Given the description of an element on the screen output the (x, y) to click on. 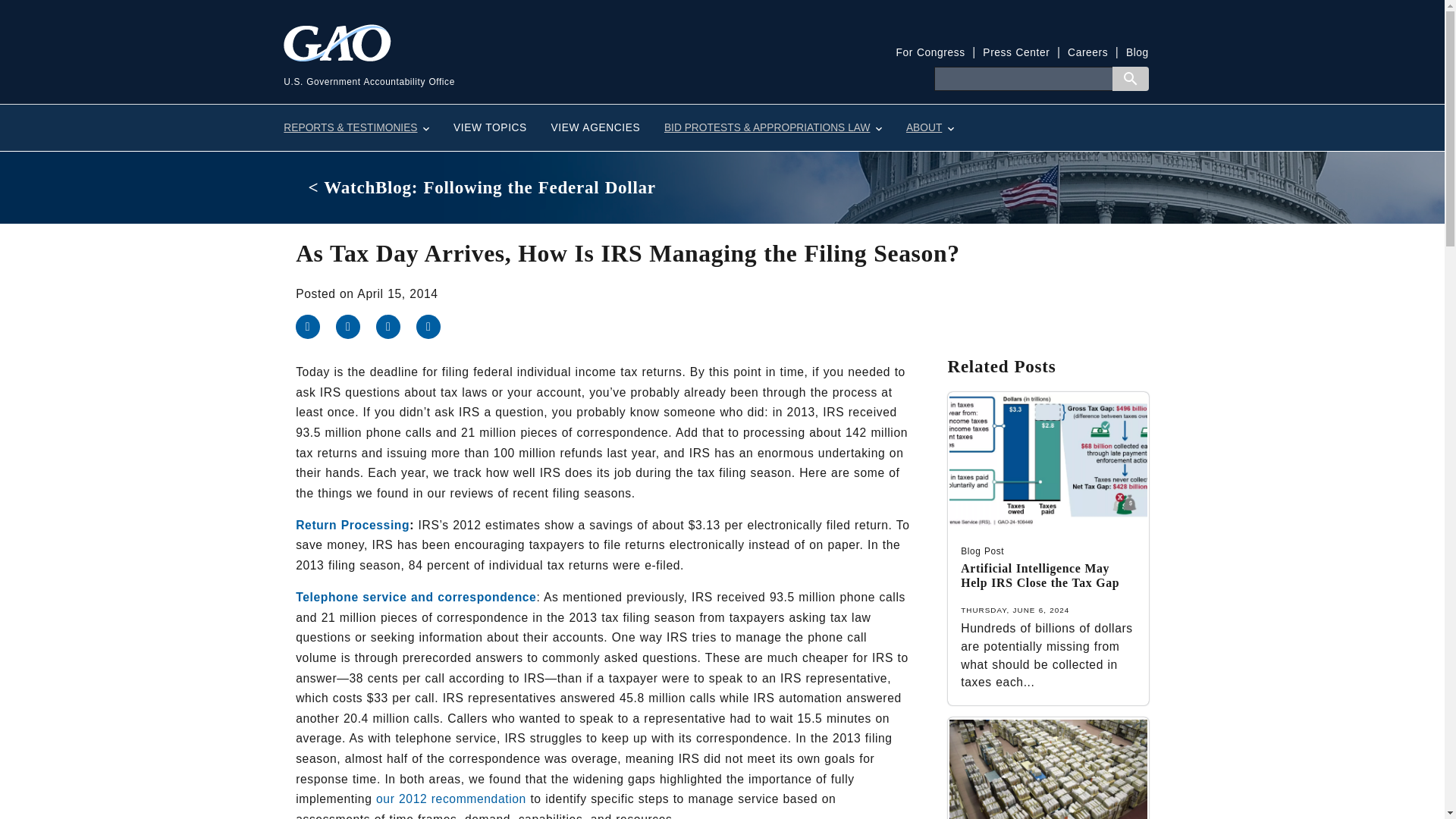
VIEW AGENCIES (595, 127)
U.S. Government Accountability Office (502, 66)
Share on LinkedIn (395, 326)
Press Center (1015, 52)
Tax Gap graphic 2 2024.JPG (1048, 459)
Return Processing (352, 524)
Share on Twitter (355, 326)
our 2012 recommendation (450, 798)
Careers (1087, 52)
